Given the description of an element on the screen output the (x, y) to click on. 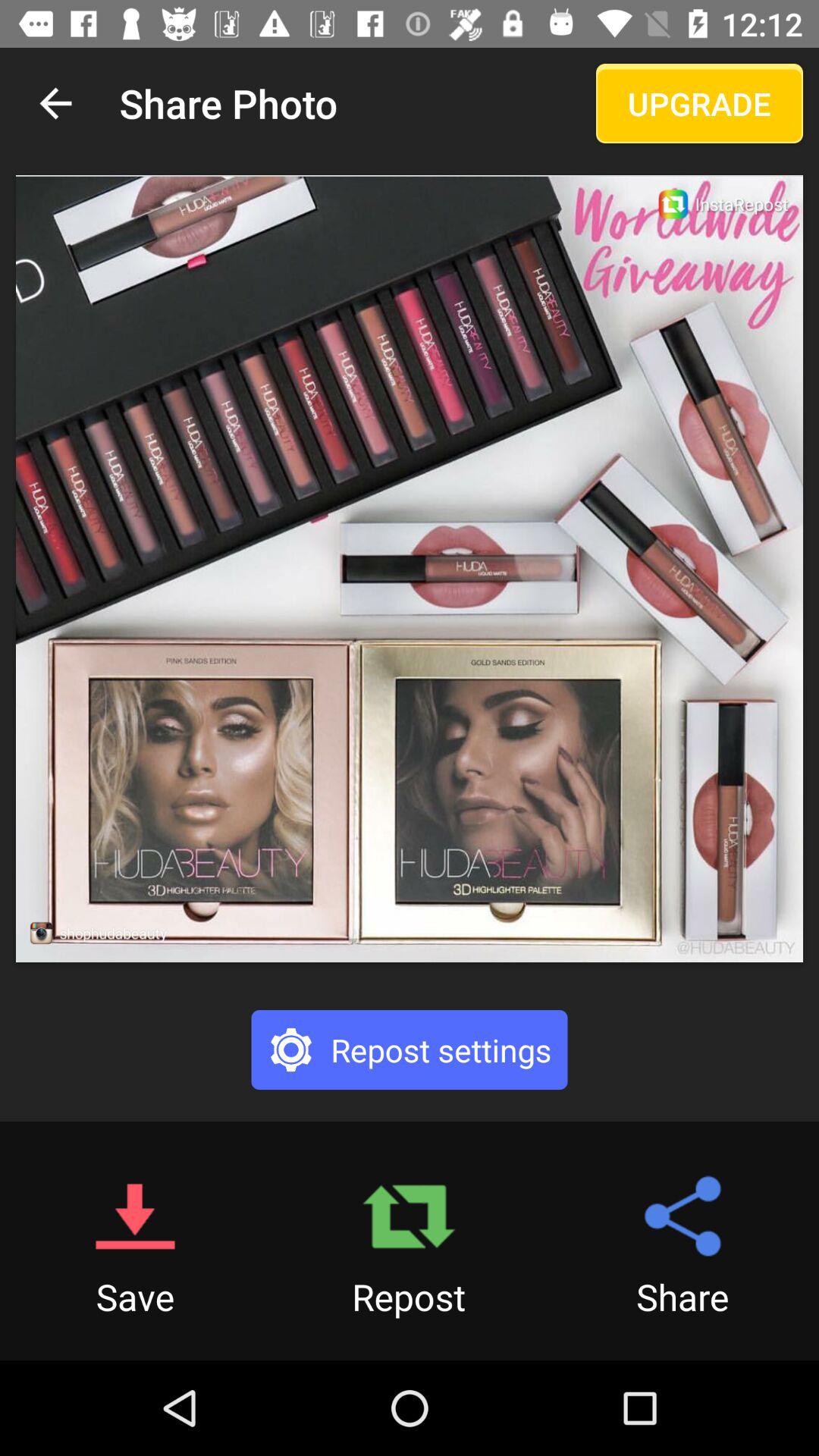
click the item next to share photo item (55, 103)
